Given the description of an element on the screen output the (x, y) to click on. 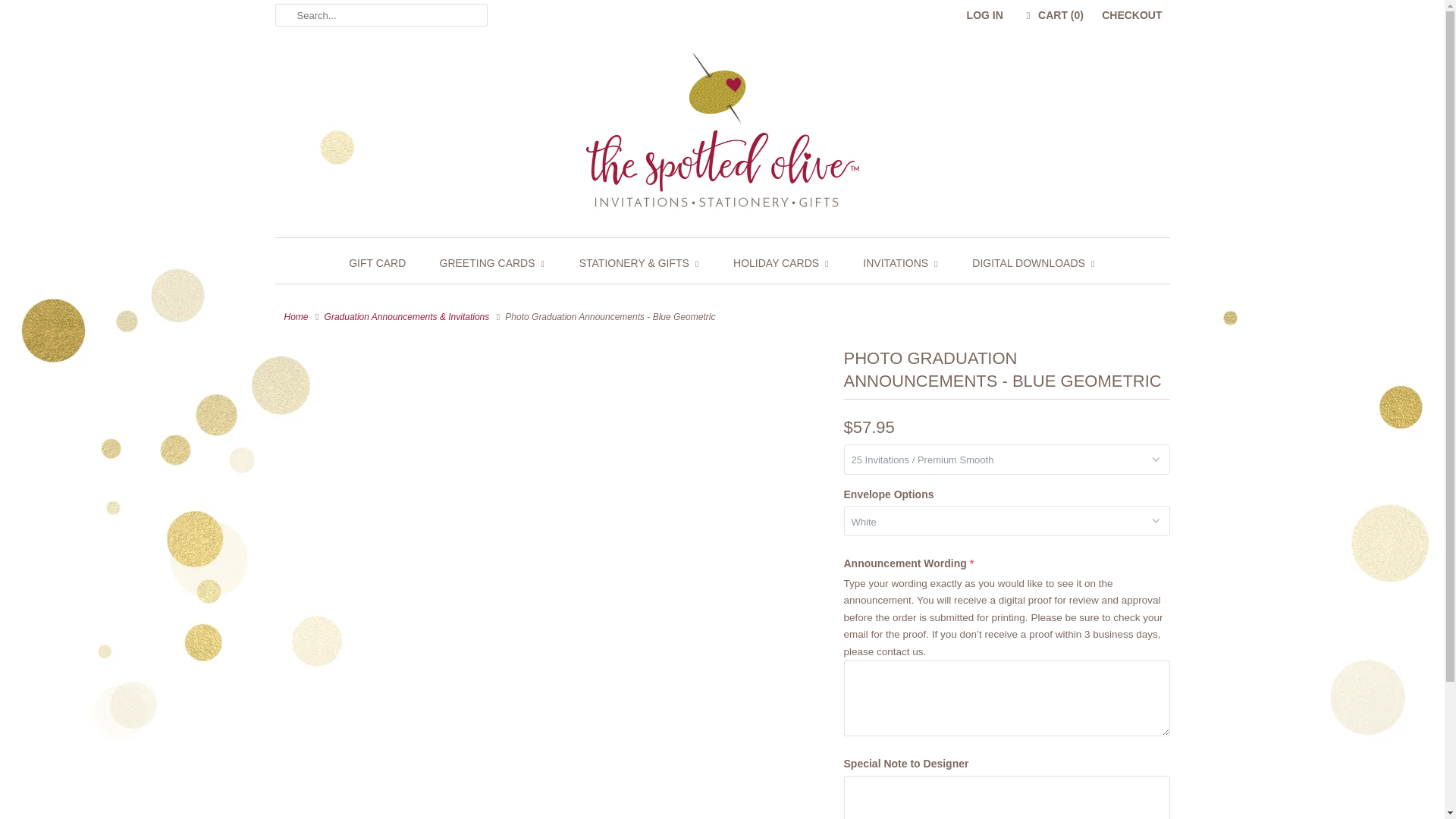
GREETING CARDS (492, 262)
LOG IN (984, 15)
The Spotted Olive (722, 137)
INVITATIONS (901, 262)
The Spotted Olive (295, 316)
CHECKOUT (1131, 15)
GIFT CARD (377, 262)
HOLIDAY CARDS (781, 262)
